Given the description of an element on the screen output the (x, y) to click on. 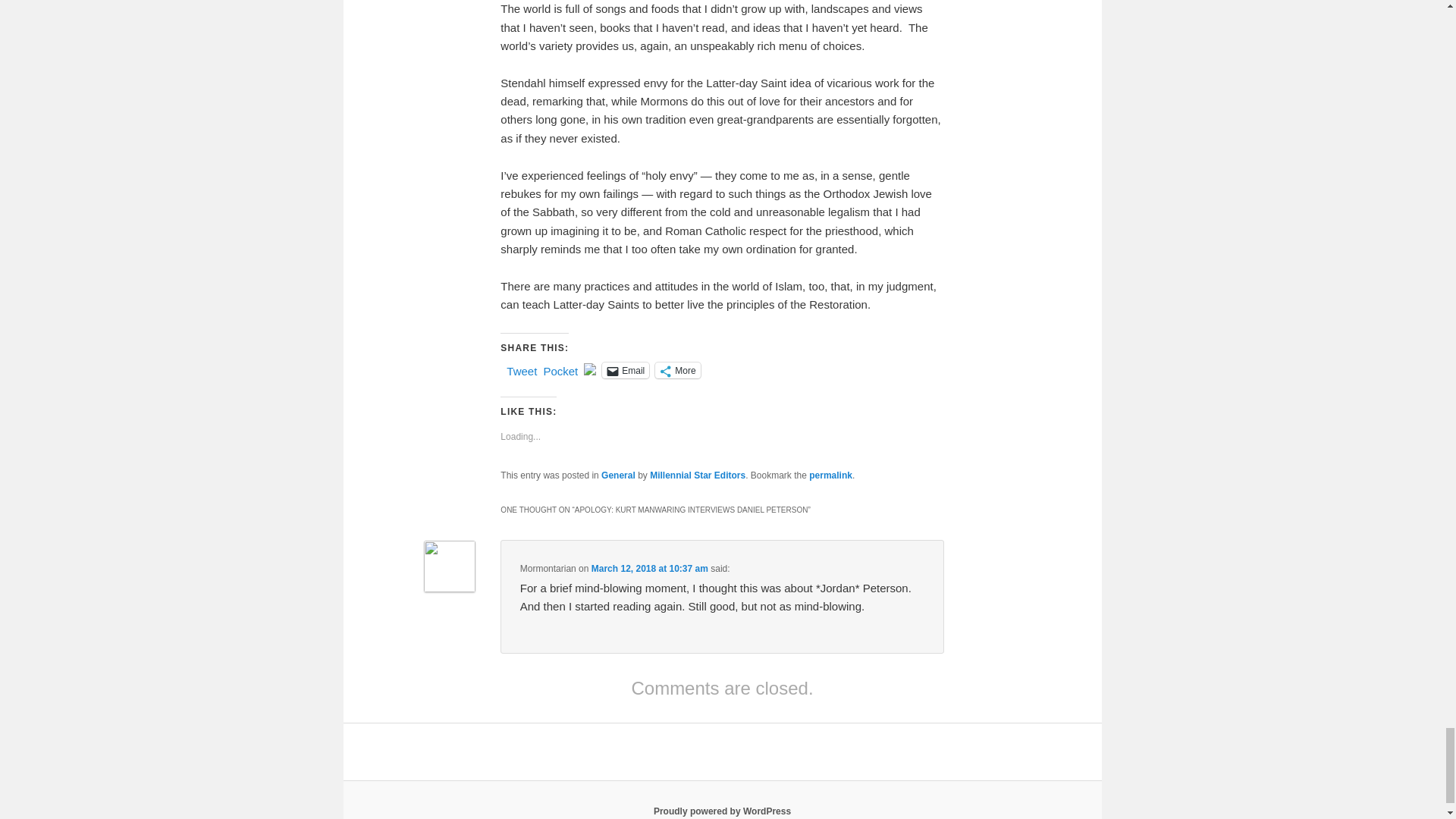
Click to email a link to a friend (625, 370)
Semantic Personal Publishing Platform (721, 810)
